Given the description of an element on the screen output the (x, y) to click on. 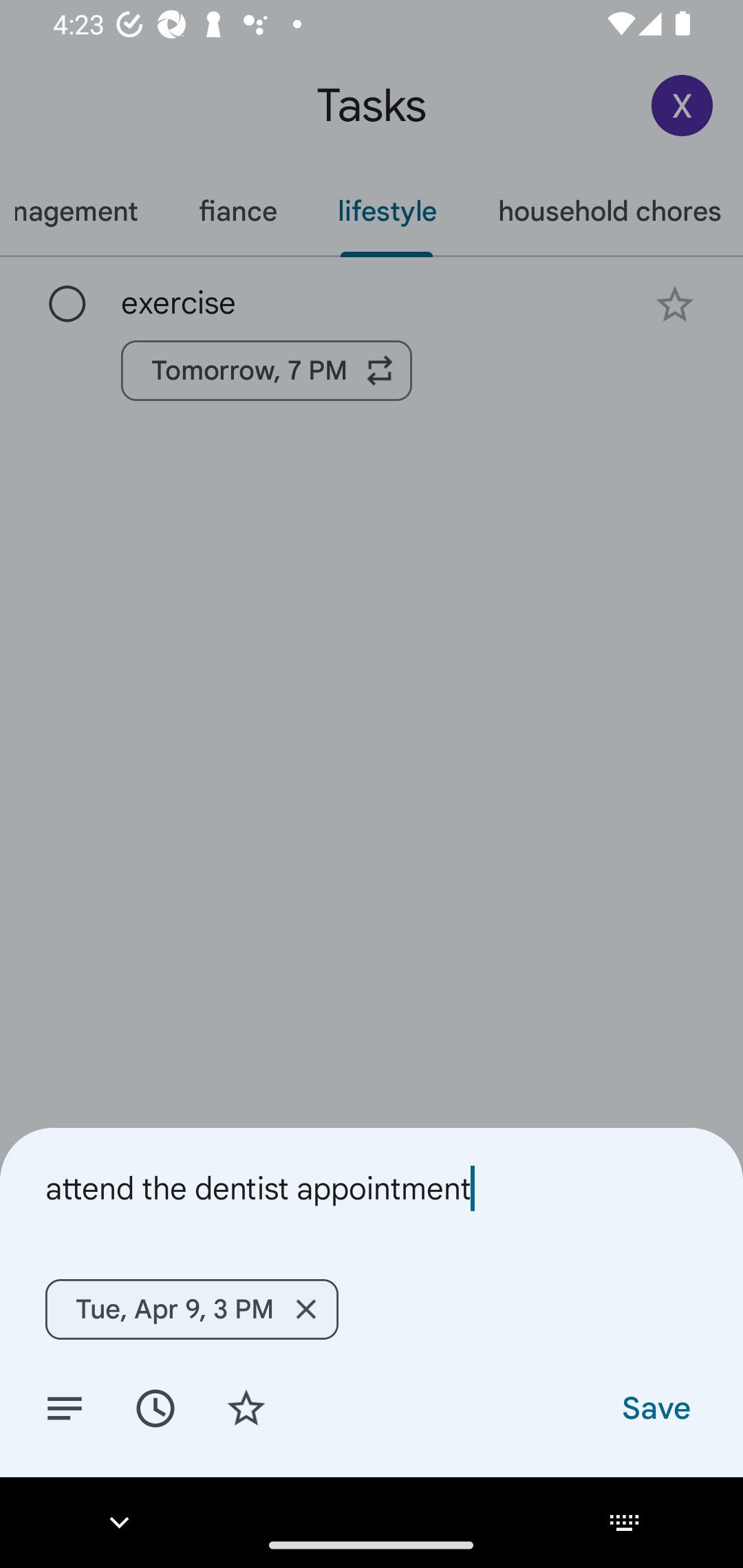
attend the dentist appointment (371, 1188)
Tue, Apr 9, 3 PM Remove Tue, Apr 9, 3 PM (191, 1308)
Save (655, 1407)
Add details (64, 1407)
Set date/time (154, 1407)
Add star (245, 1407)
